Given the description of an element on the screen output the (x, y) to click on. 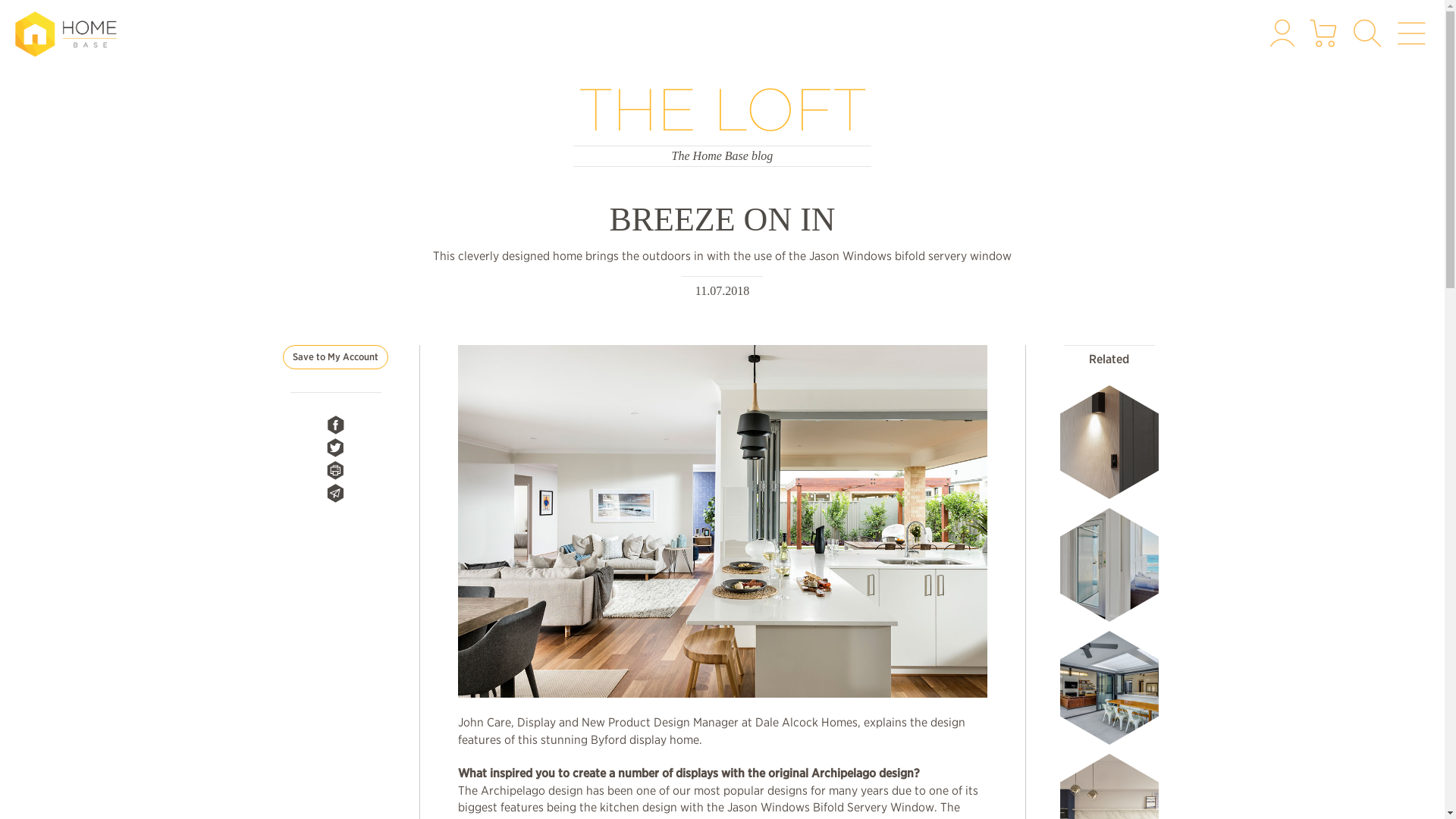
Share on Facebook Element type: hover (335, 424)
Share on Twitter Element type: hover (335, 447)
Share by Email Element type: hover (335, 492)
Print Element type: hover (335, 470)
